Given the description of an element on the screen output the (x, y) to click on. 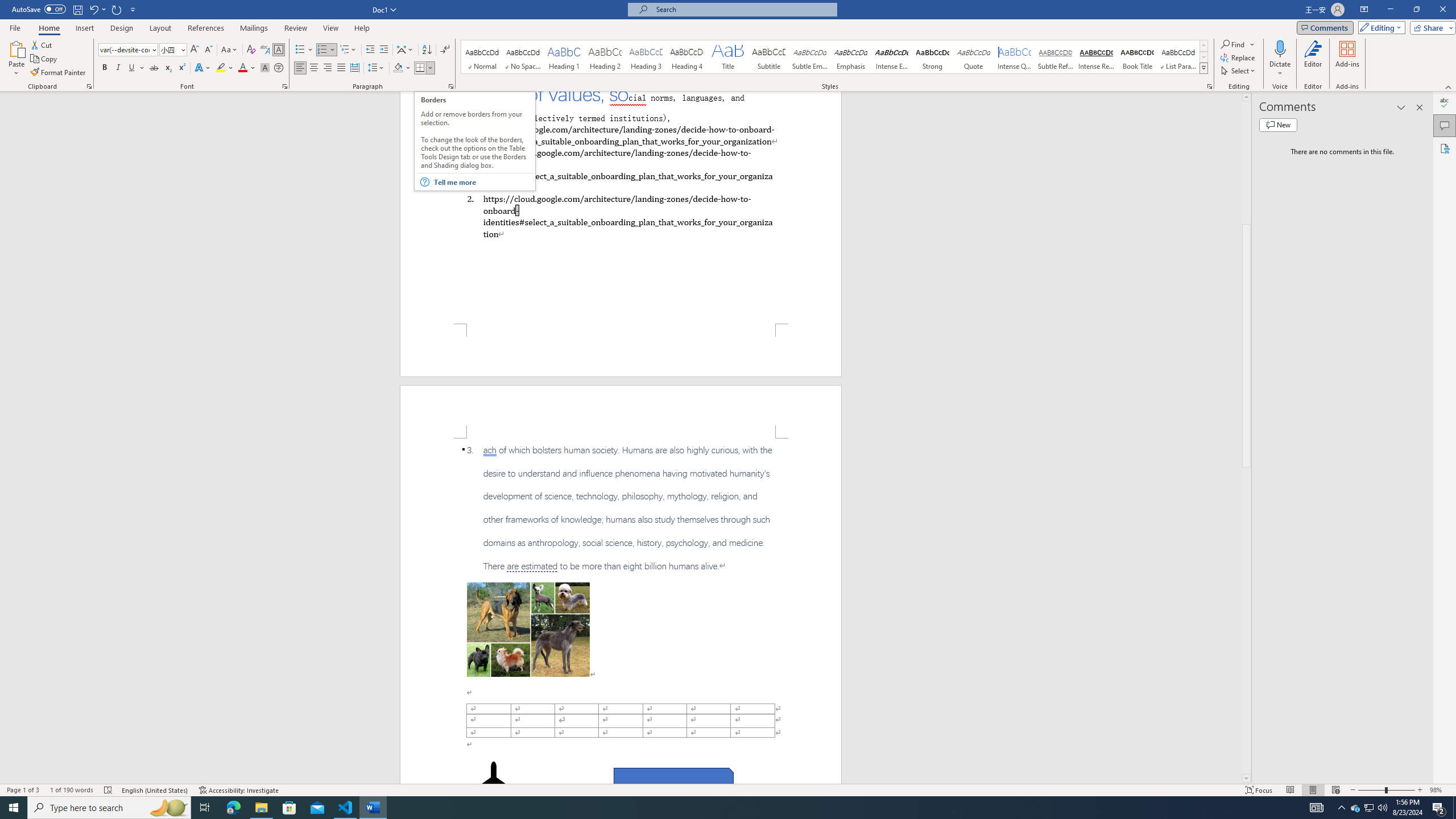
Airplane with solid fill (493, 783)
Heading 2 (605, 56)
Tell me more (482, 181)
